Given the description of an element on the screen output the (x, y) to click on. 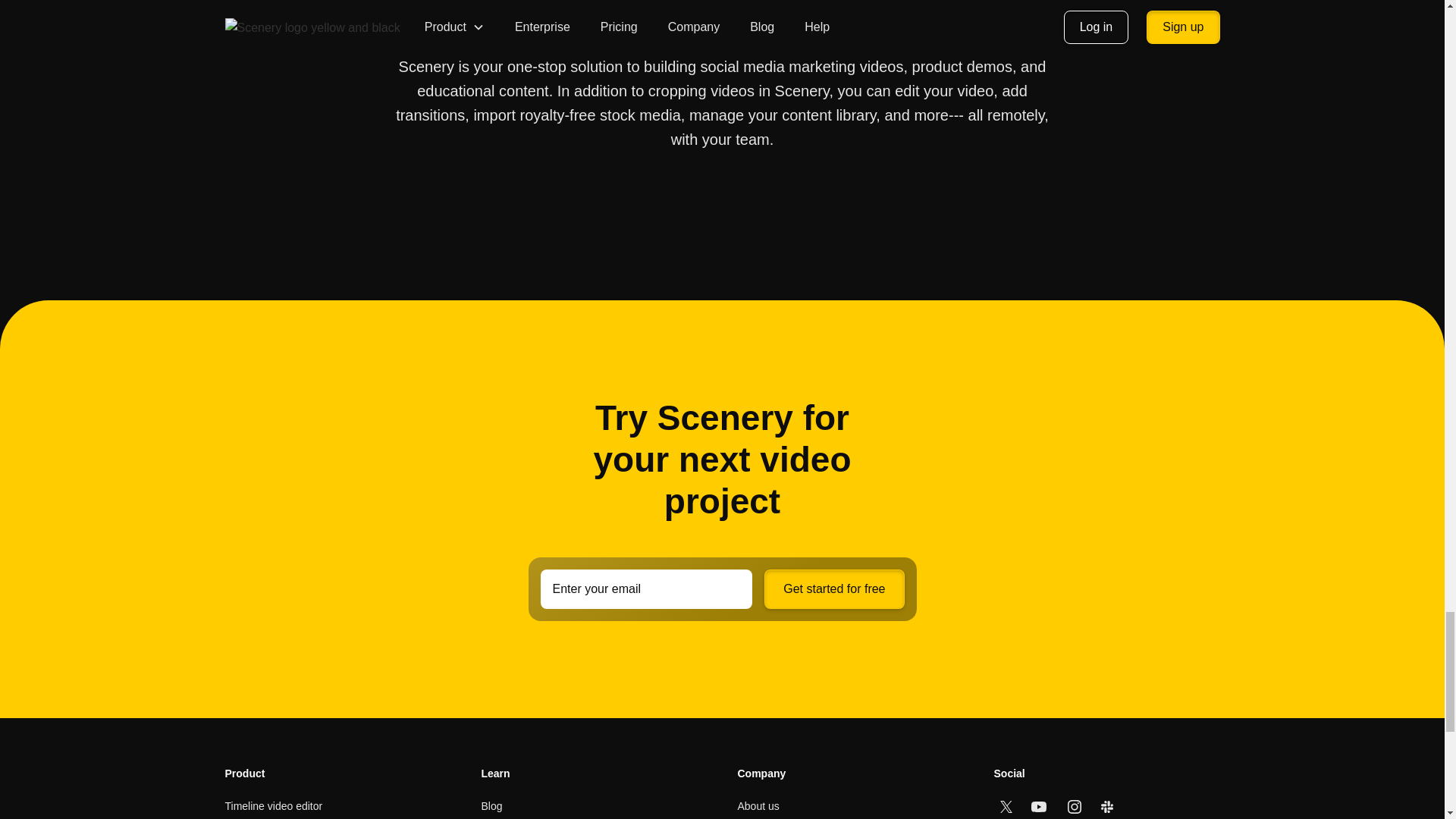
Get started for free (834, 589)
Timeline video editor (272, 805)
Get started for free (834, 589)
About us (757, 805)
